Given the description of an element on the screen output the (x, y) to click on. 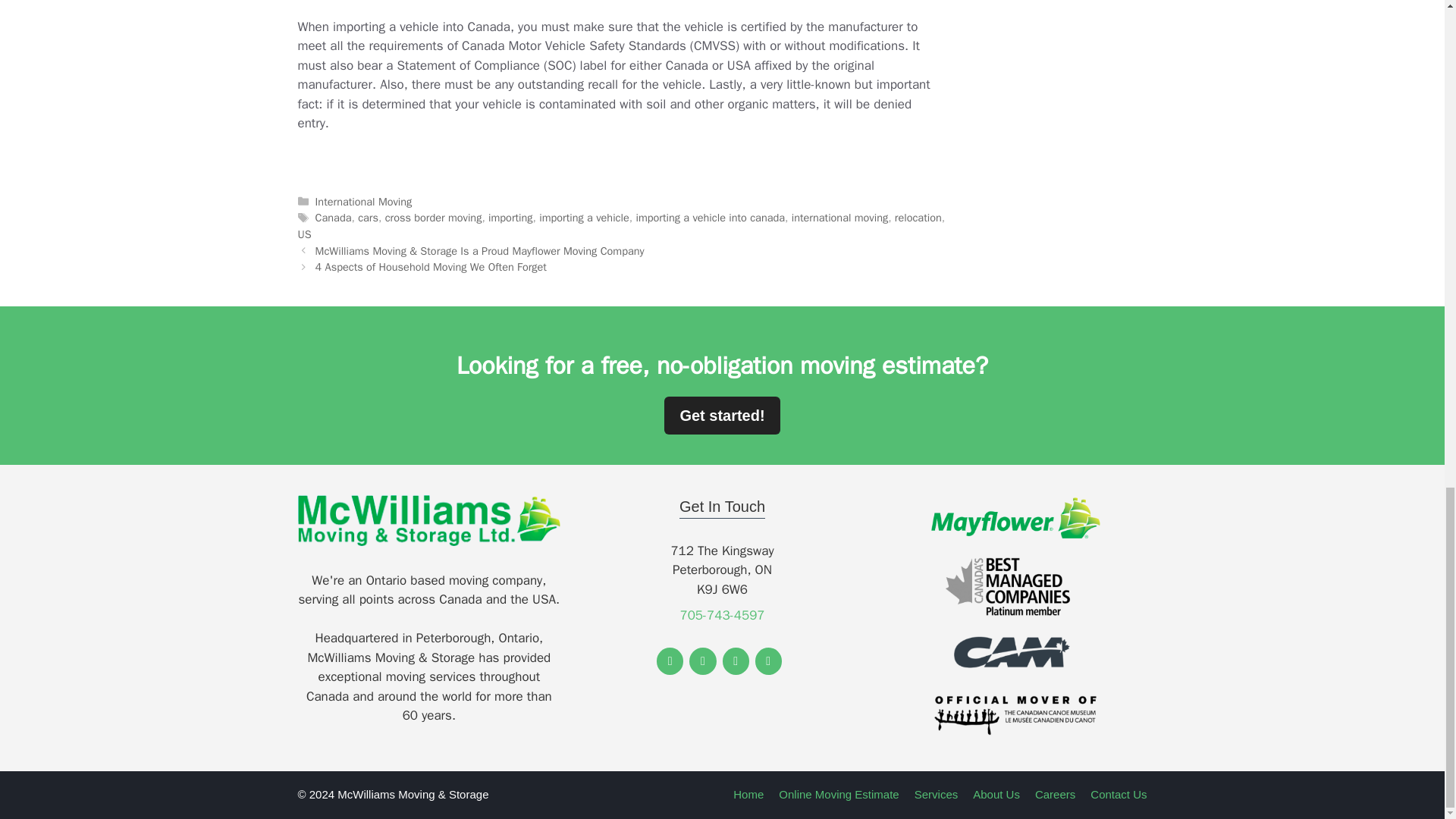
WordPress (768, 660)
Instagram (702, 660)
Facebook (669, 660)
Scroll back to top (1406, 319)
LinkedIn (735, 660)
